Given the description of an element on the screen output the (x, y) to click on. 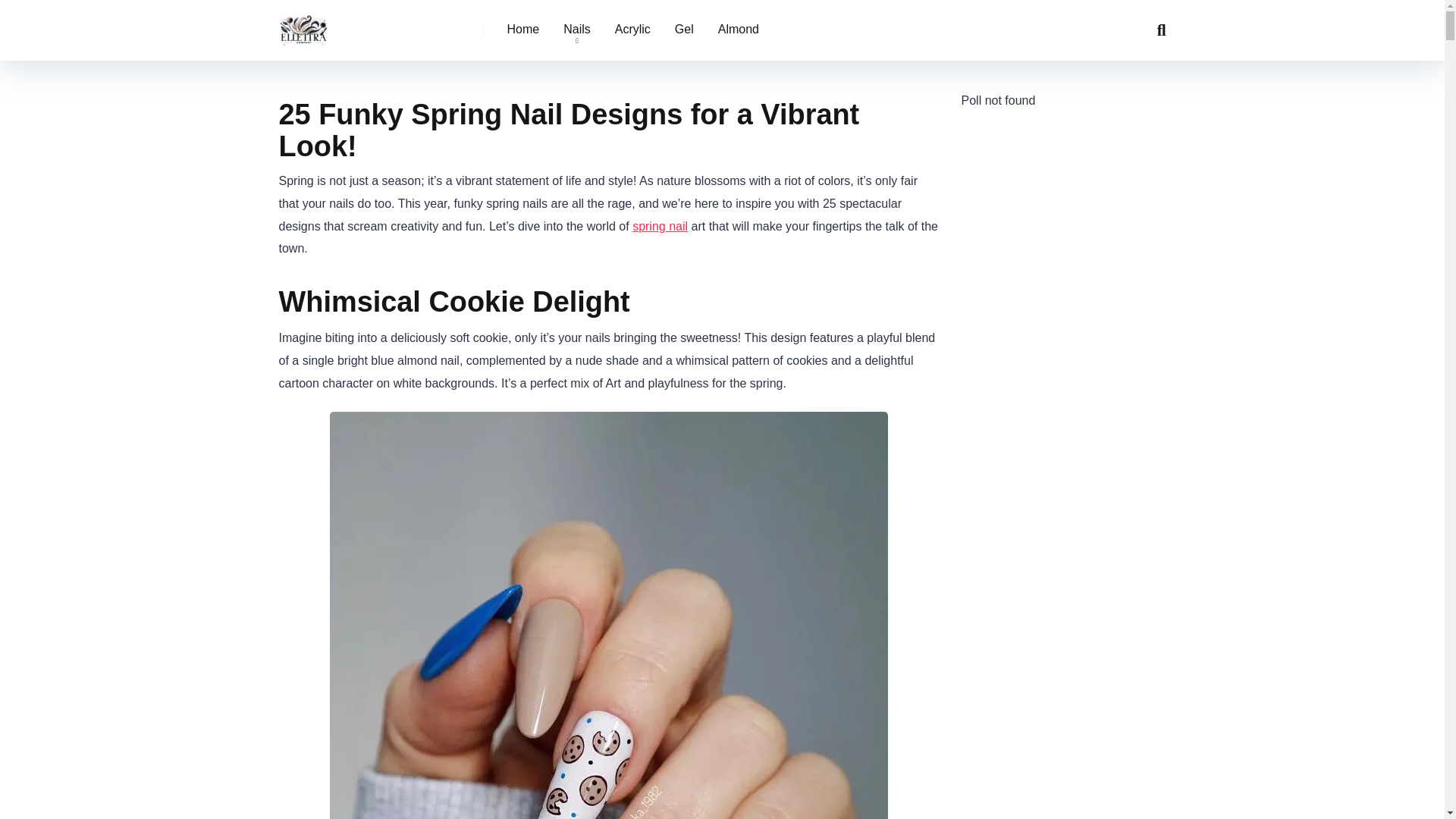
Almond (738, 30)
Acrylic (632, 30)
spring nail (659, 226)
Home (523, 30)
